Given the description of an element on the screen output the (x, y) to click on. 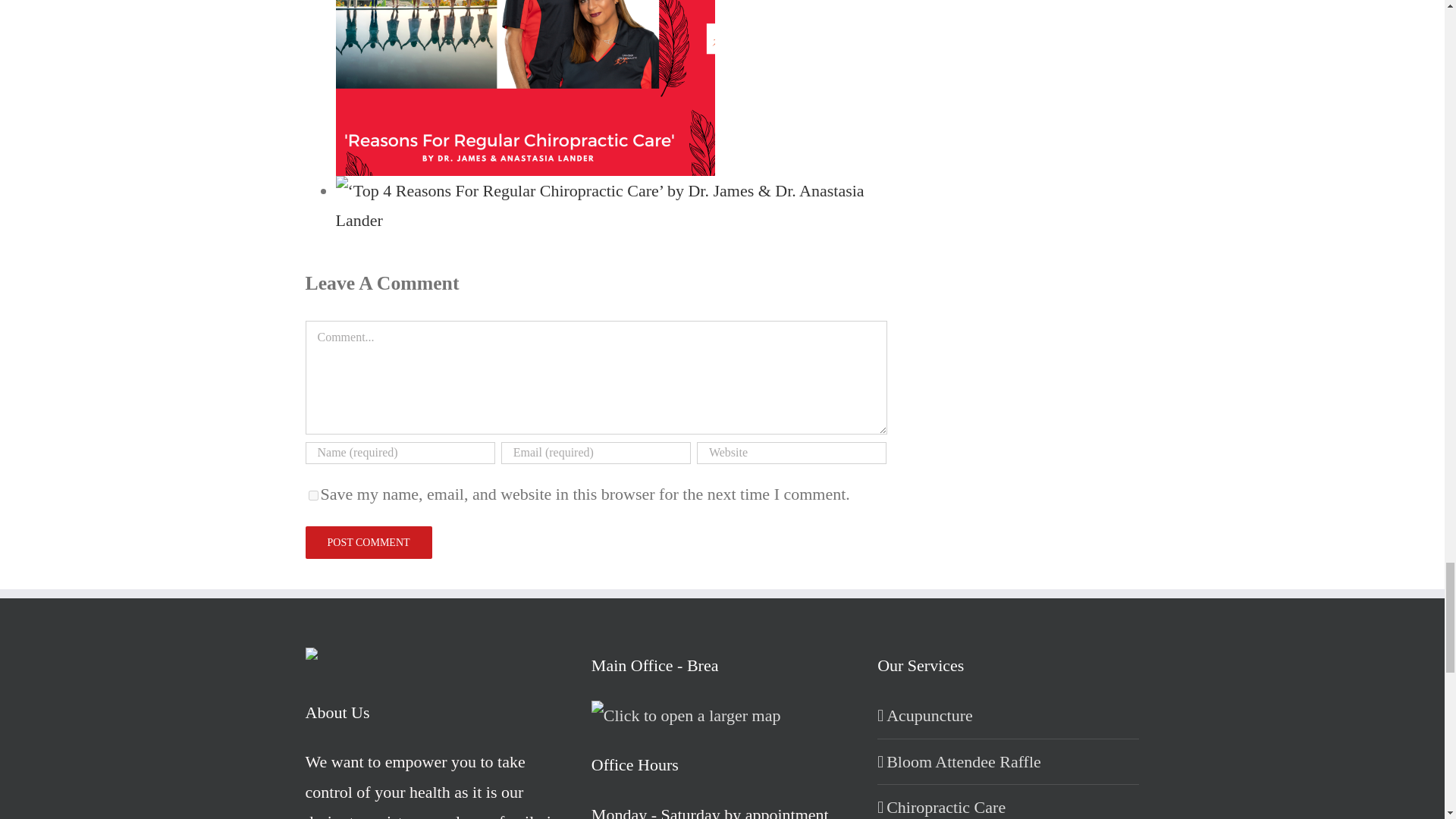
Post Comment (367, 542)
yes (312, 495)
